Given the description of an element on the screen output the (x, y) to click on. 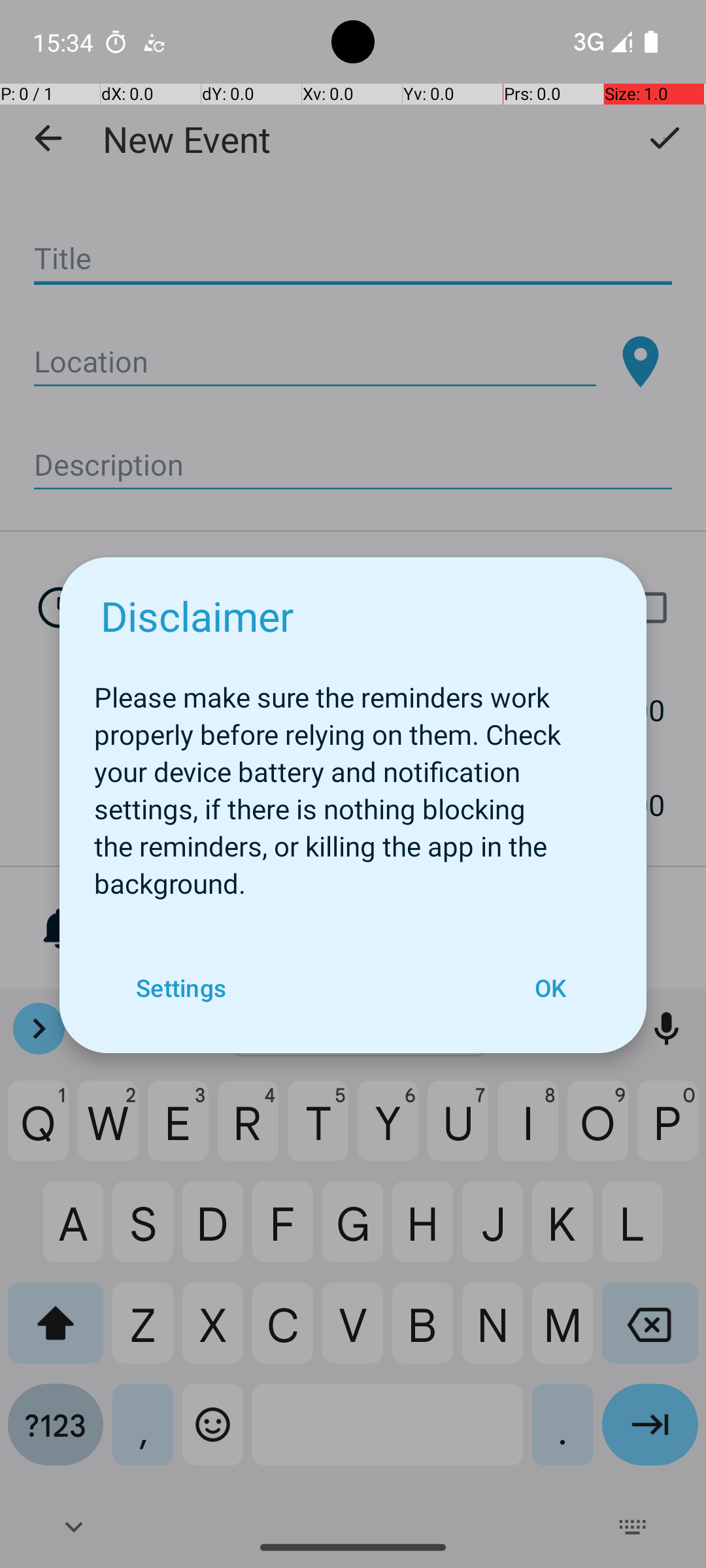
Disclaimer Element type: android.widget.TextView (196, 615)
Please make sure the reminders work properly before relying on them. Check your device battery and notification settings, if there is nothing blocking the reminders, or killing the app in the background. Element type: android.widget.TextView (352, 782)
